Given the description of an element on the screen output the (x, y) to click on. 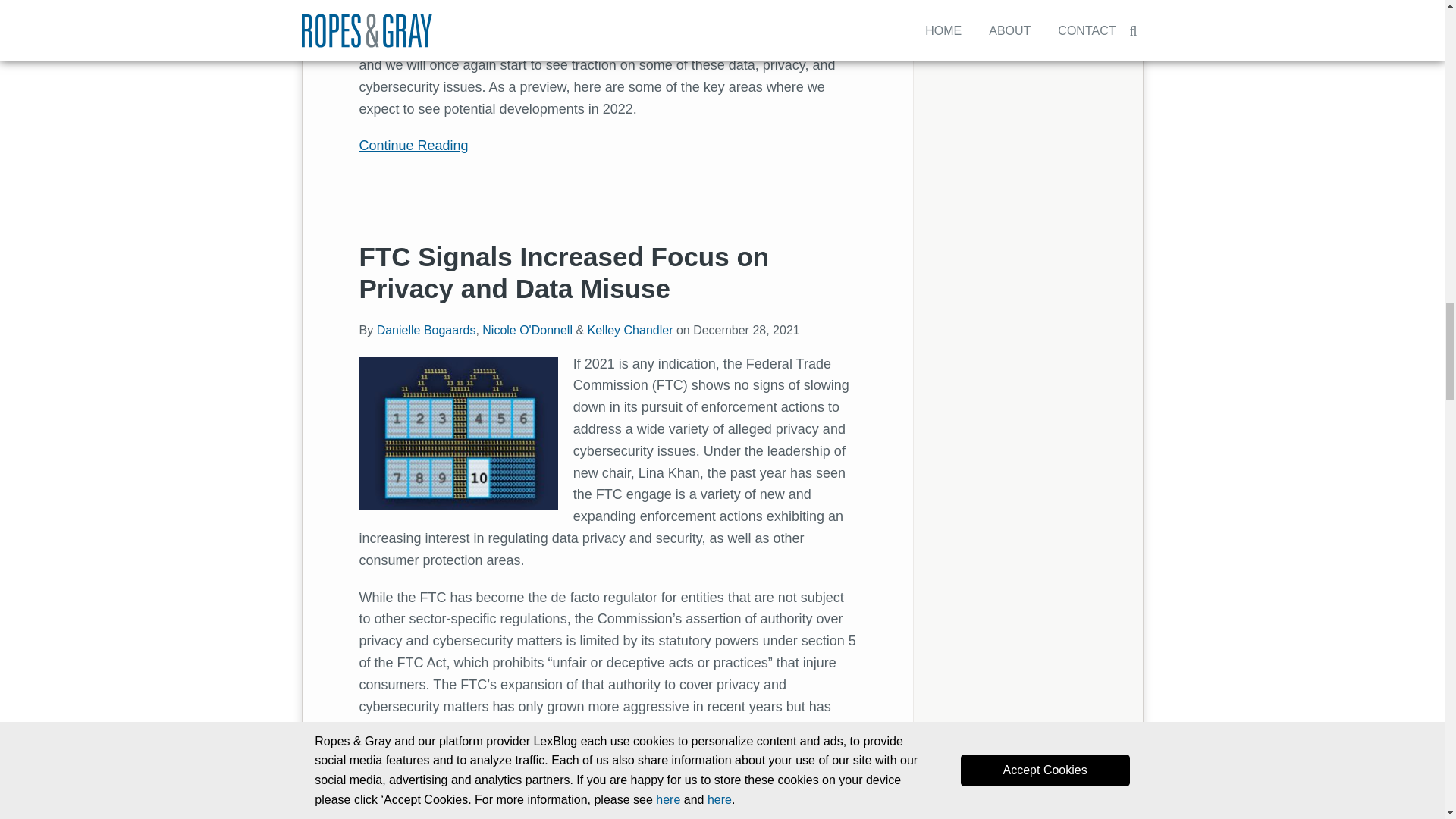
Kelley Chandler (629, 329)
AMG Capital Mgmt., LLC v. FTC (652, 793)
FTC Signals Increased Focus on Privacy and Data Misuse (564, 272)
Danielle Bogaards (426, 329)
Nicole O'Donnell (526, 329)
LabMD, Inc. v. FTC (513, 749)
